Given the description of an element on the screen output the (x, y) to click on. 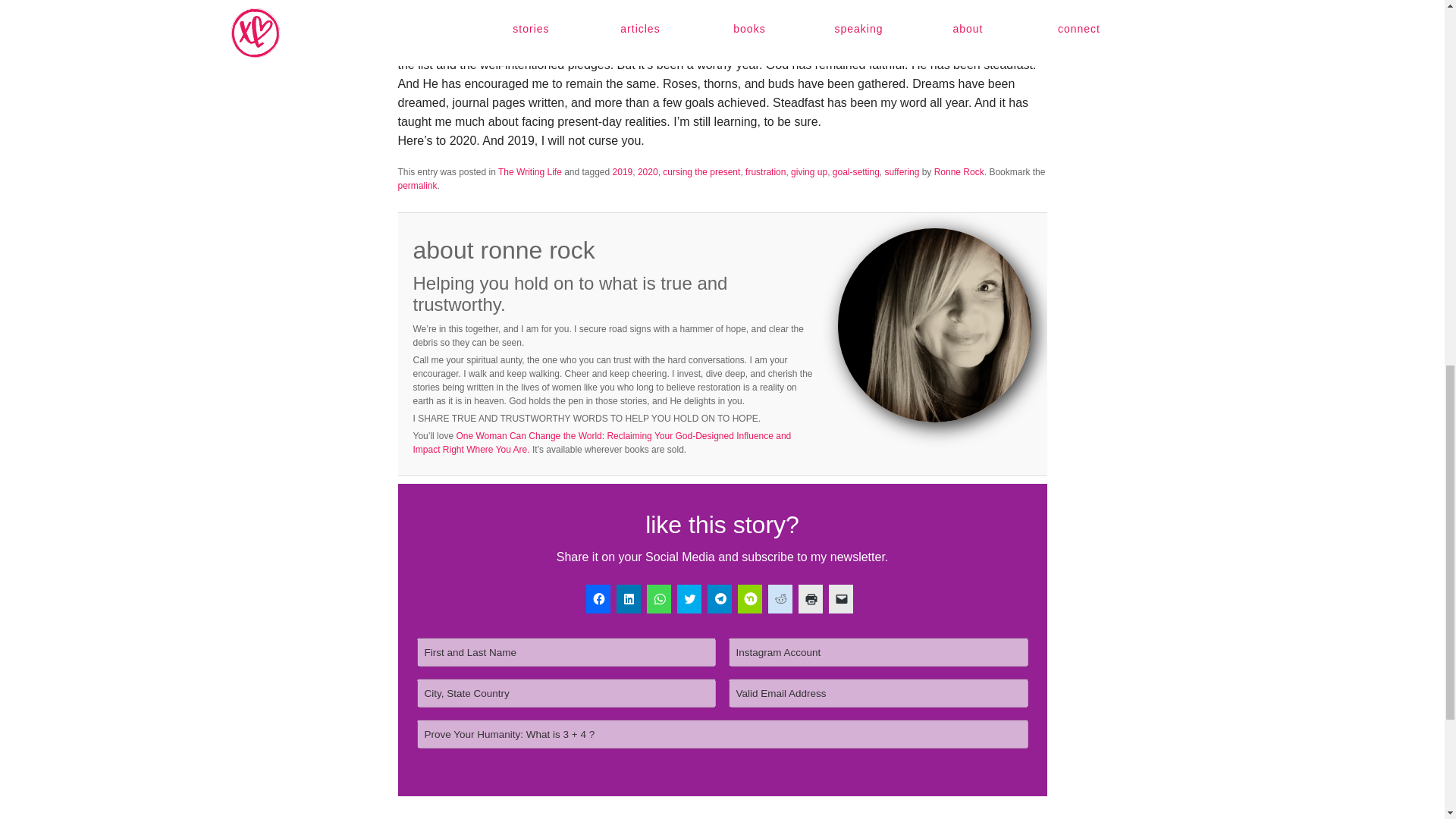
The Writing Life (529, 172)
2020 (647, 172)
permalink (416, 185)
suffering (902, 172)
giving up (808, 172)
2019 (622, 172)
goal-setting (855, 172)
frustration (765, 172)
Ronne Rock (959, 172)
cursing the present (700, 172)
Permalink to I Will Not Curse You. (416, 185)
